Given the description of an element on the screen output the (x, y) to click on. 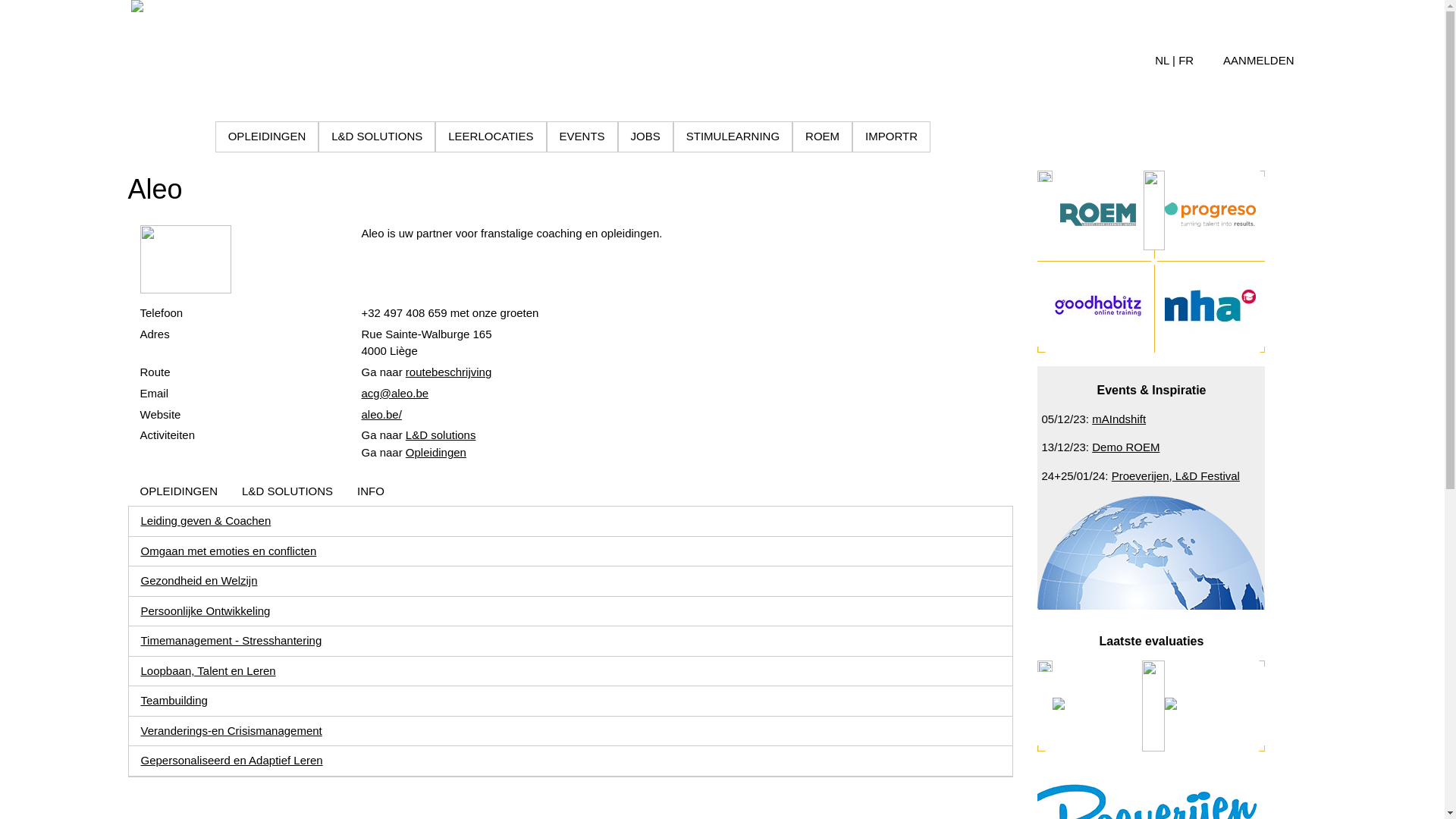
FR Element type: text (1185, 59)
routebeschrijving Element type: text (448, 371)
Proeverijen, L&D Festival Element type: text (1175, 475)
Gezondheid en Welzijn Element type: text (199, 580)
Veranderings-en Crisismanagement Element type: text (231, 730)
L&D solutions Element type: text (440, 434)
ROEM Element type: text (822, 136)
Persoonlijke Ontwikkeling Element type: text (205, 610)
OPLEIDINGEN Element type: text (266, 136)
LEERLOCATIES Element type: text (490, 136)
Omgaan met emoties en conflicten Element type: text (228, 550)
Loopbaan, Talent en Leren Element type: text (208, 670)
AANMELDEN Element type: text (1258, 60)
L&D SOLUTIONS Element type: text (287, 491)
INFO Element type: text (370, 491)
Teambuilding Element type: text (174, 699)
Leiding geven & Coachen Element type: text (206, 520)
Demo ROEM Element type: text (1125, 446)
aleo.be/ Element type: text (380, 413)
Gepersonaliseerd en Adaptief Leren Element type: text (232, 759)
Opleidingen Element type: text (435, 451)
OPLEIDINGEN Element type: text (178, 491)
mAIndshift Element type: text (1118, 418)
JOBS Element type: text (644, 136)
IMPORTR Element type: text (891, 136)
Timemanagement - Stresshantering Element type: text (231, 639)
L&D SOLUTIONS Element type: text (376, 136)
EVENTS Element type: text (581, 136)
acg@aleo.be Element type: text (394, 392)
AANBIEDERS Element type: text (164, 136)
STIMULEARNING Element type: text (731, 136)
